Given the description of an element on the screen output the (x, y) to click on. 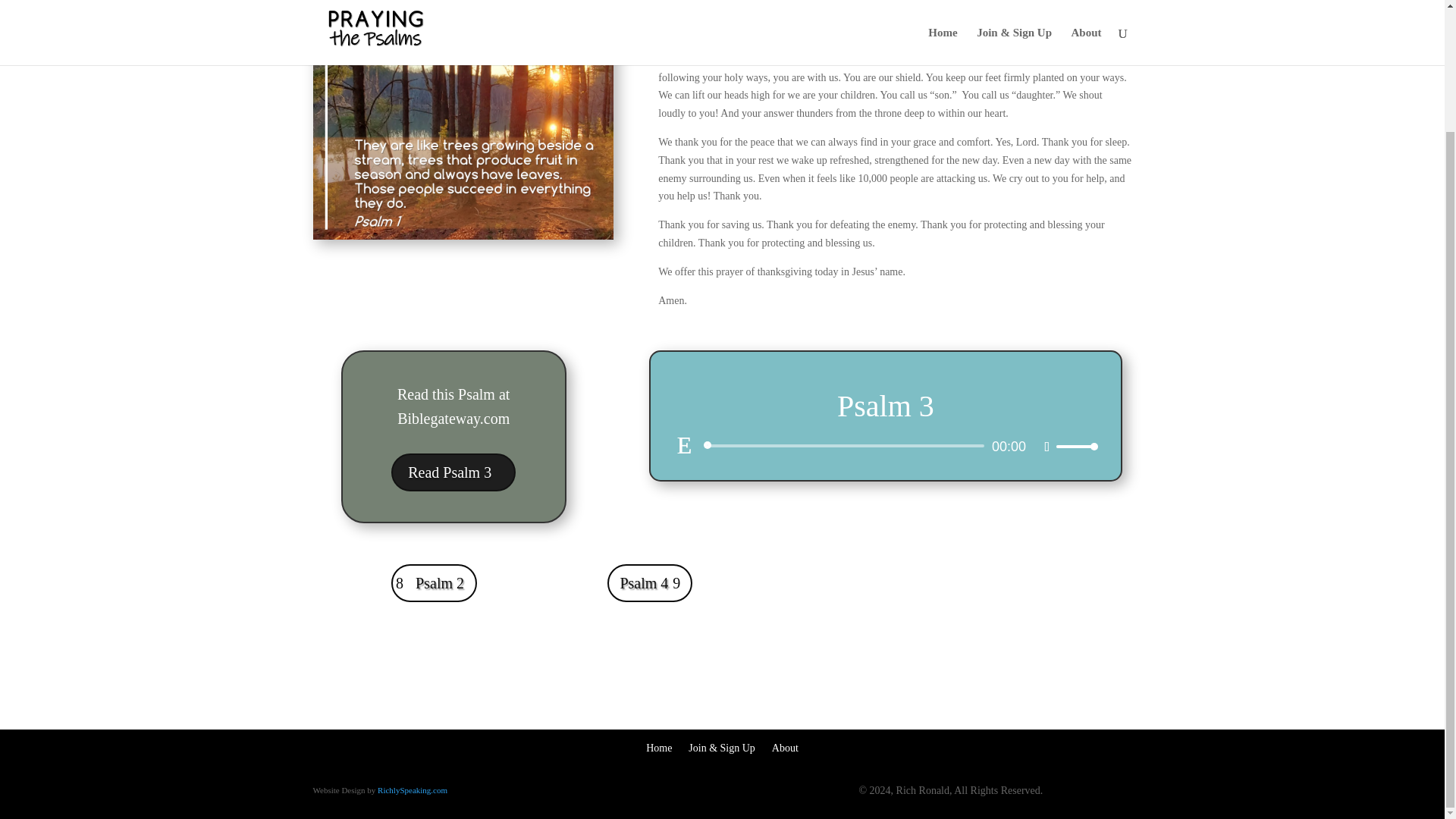
Psalm 2 (434, 582)
NewPsalm1 (462, 119)
Read Psalm 3 (453, 472)
Psalm 4 (650, 582)
RichlySpeaking.com (411, 789)
Home (658, 745)
About (784, 745)
